Given the description of an element on the screen output the (x, y) to click on. 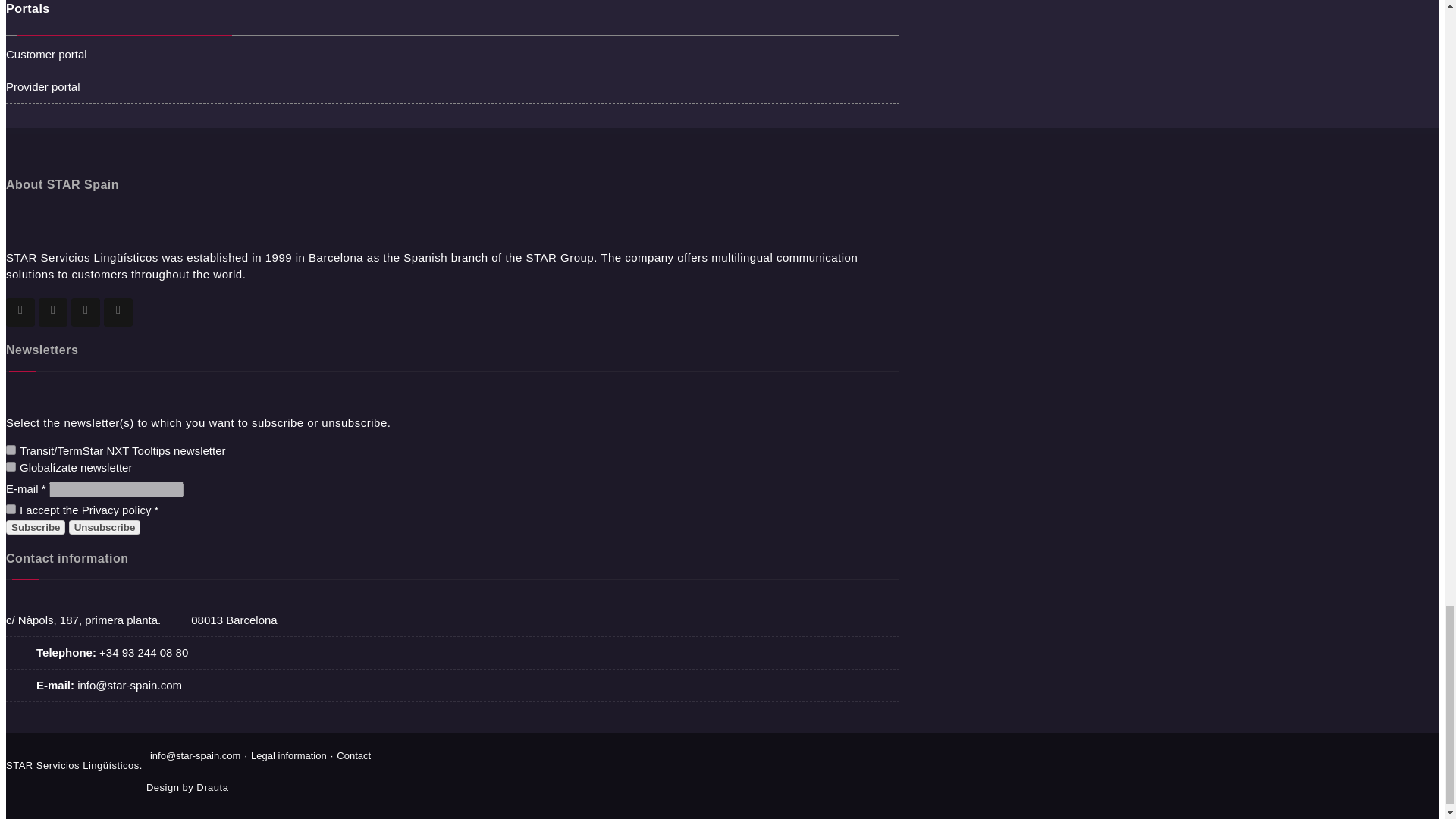
2276 (10, 450)
Drauta (212, 787)
1 (10, 509)
2278 (10, 466)
